Given the description of an element on the screen output the (x, y) to click on. 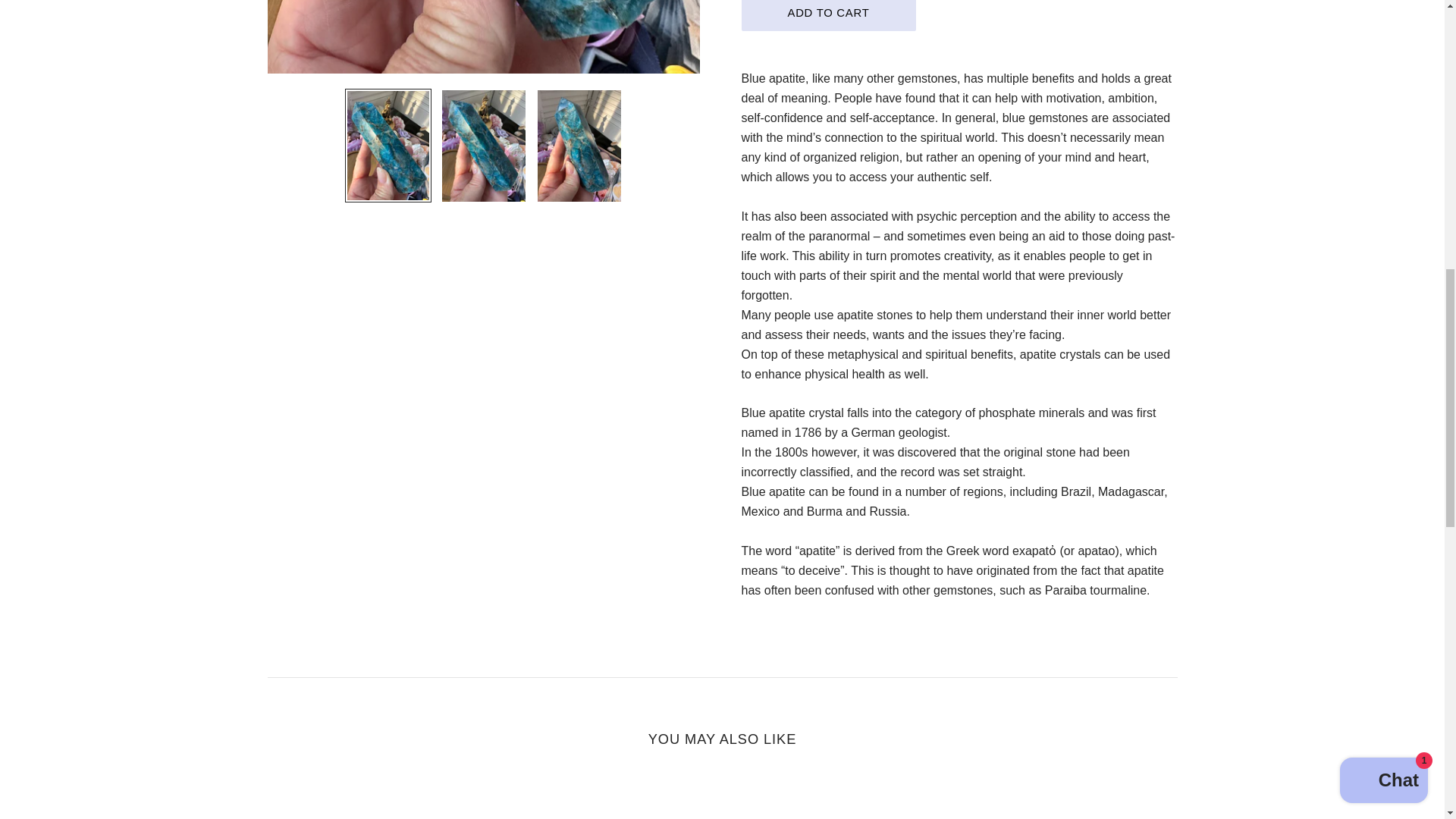
Add to cart (828, 15)
